Given the description of an element on the screen output the (x, y) to click on. 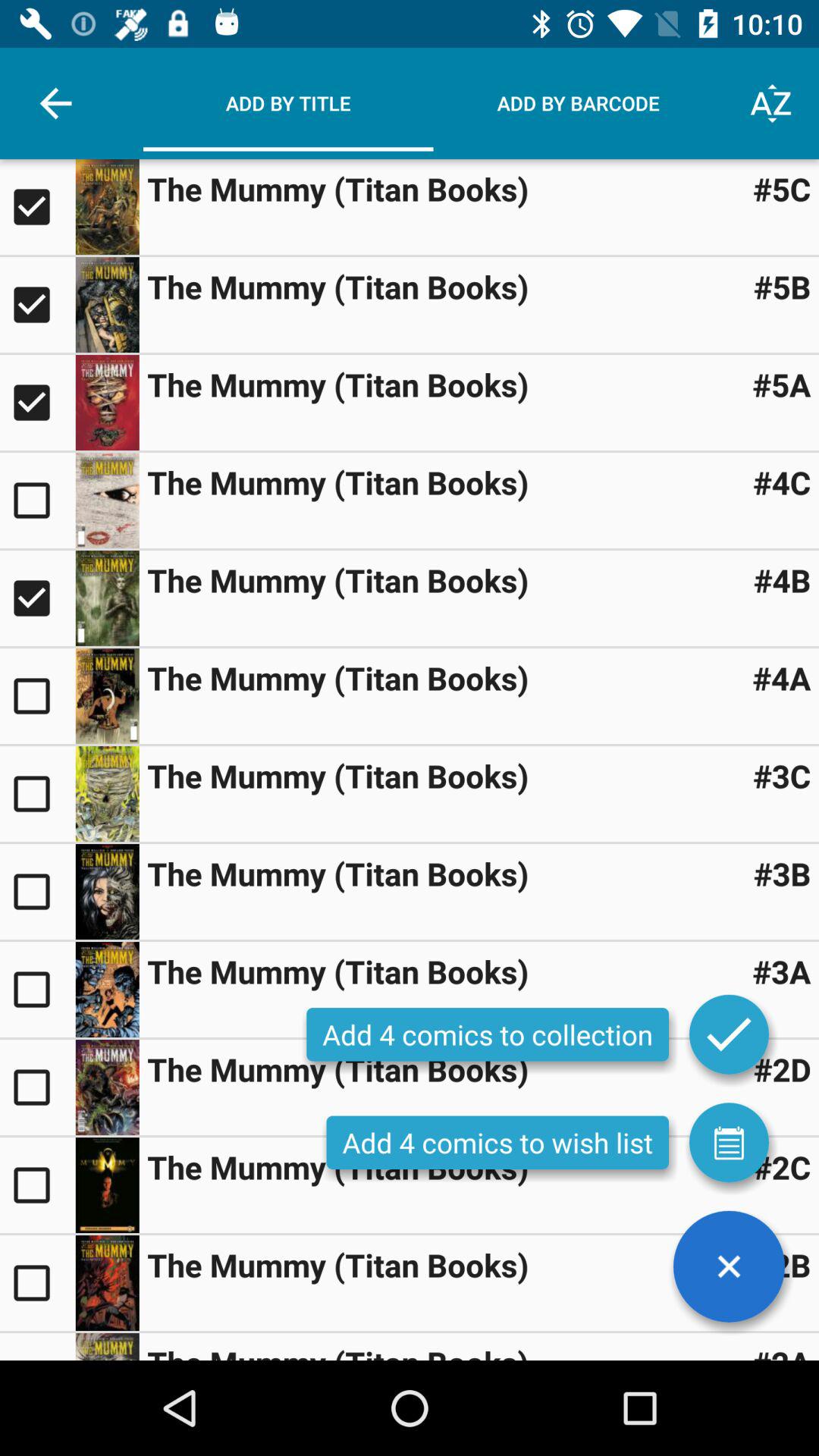
picture of book (107, 989)
